Given the description of an element on the screen output the (x, y) to click on. 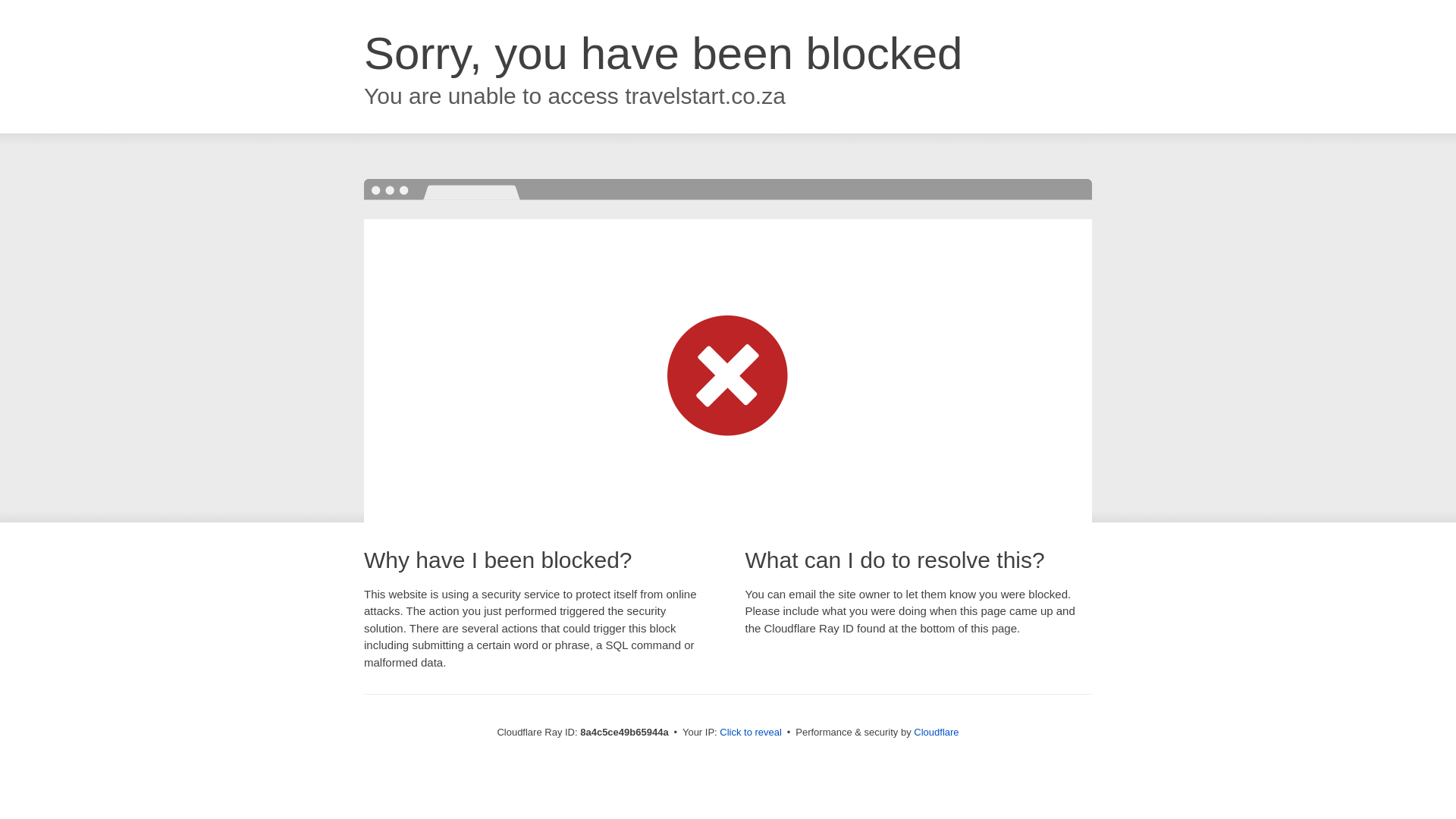
Click to reveal (750, 732)
Cloudflare (936, 731)
